Given the description of an element on the screen output the (x, y) to click on. 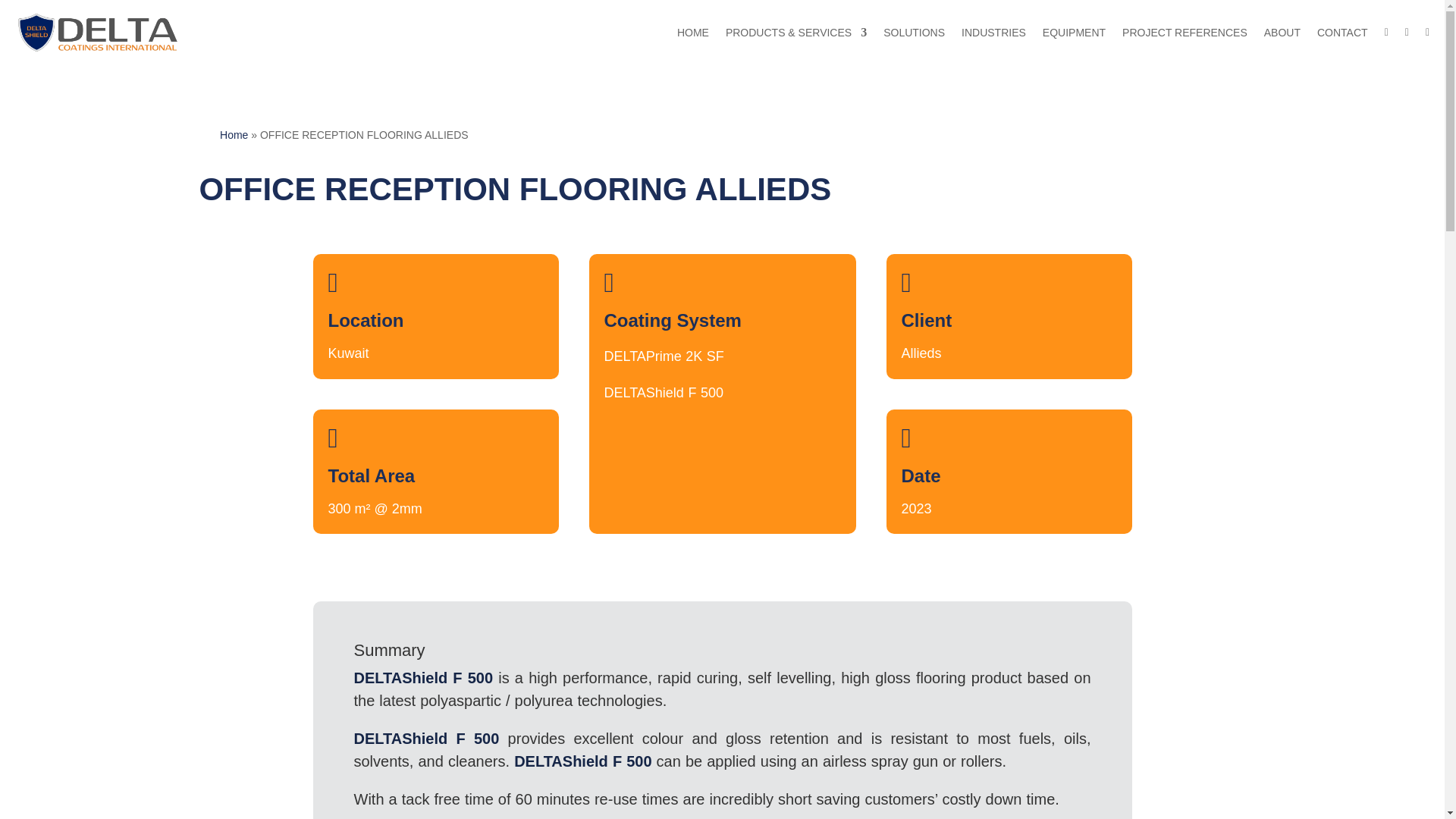
PROJECT REFERENCES (1184, 32)
Home (233, 134)
INDUSTRIES (993, 32)
SOLUTIONS (913, 32)
EQUIPMENT (1073, 32)
